Given the description of an element on the screen output the (x, y) to click on. 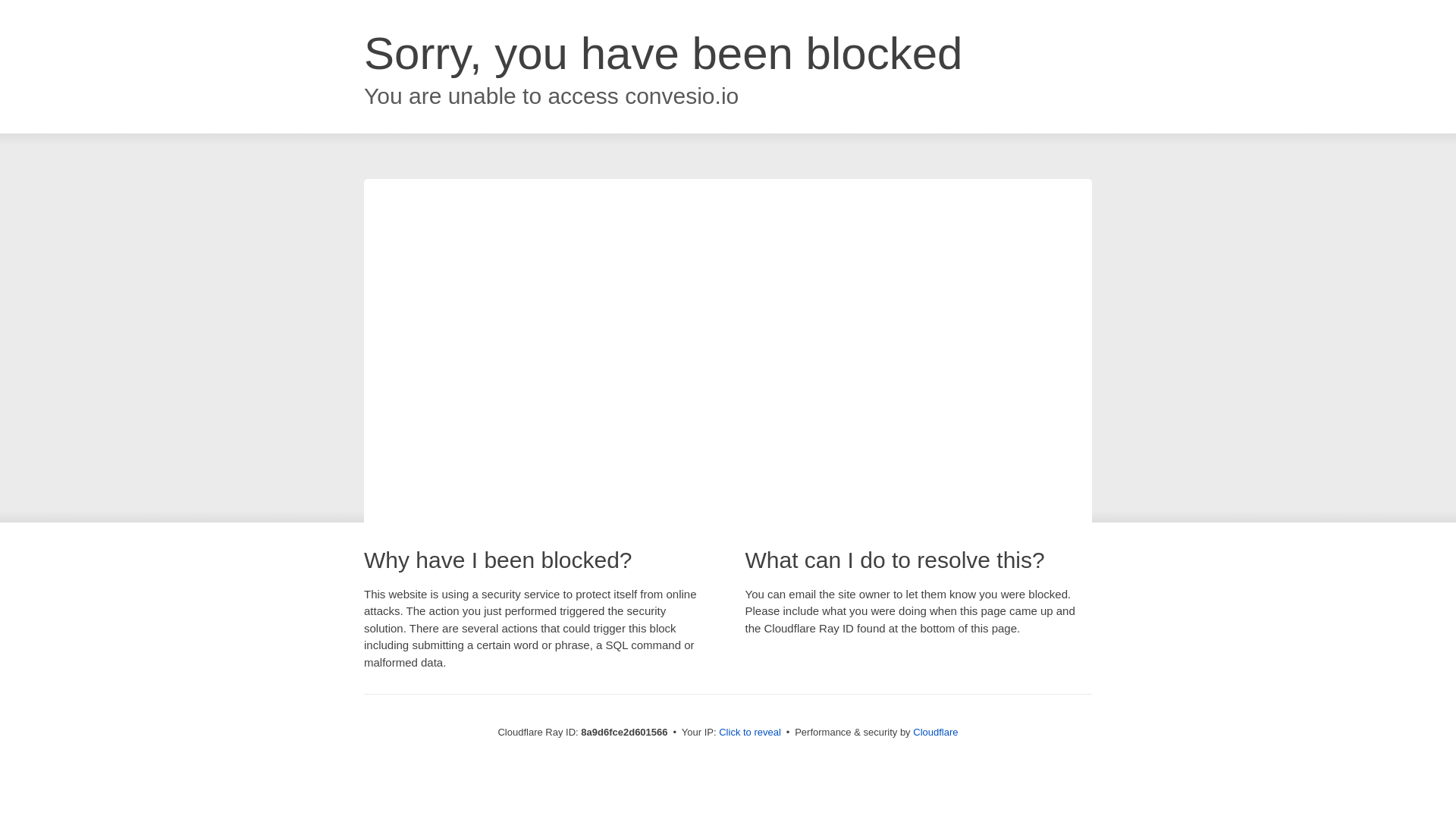
Click to reveal (749, 732)
Cloudflare (935, 731)
